Given the description of an element on the screen output the (x, y) to click on. 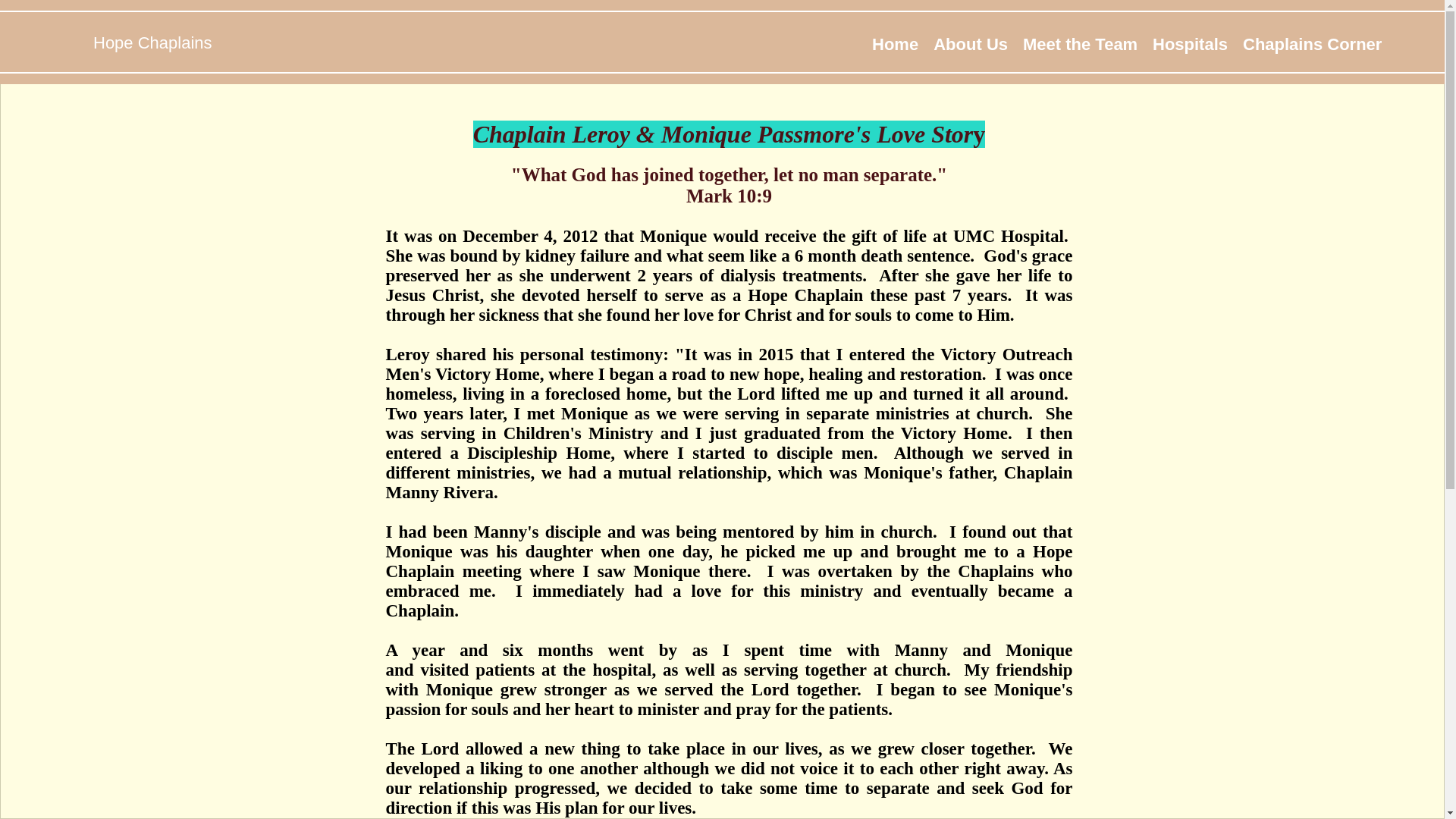
About Us (970, 44)
Hope Chaplains (152, 42)
Chaplains Corner (1311, 44)
Home (895, 44)
Hospitals (1189, 44)
Meet the Team (1079, 44)
